Given the description of an element on the screen output the (x, y) to click on. 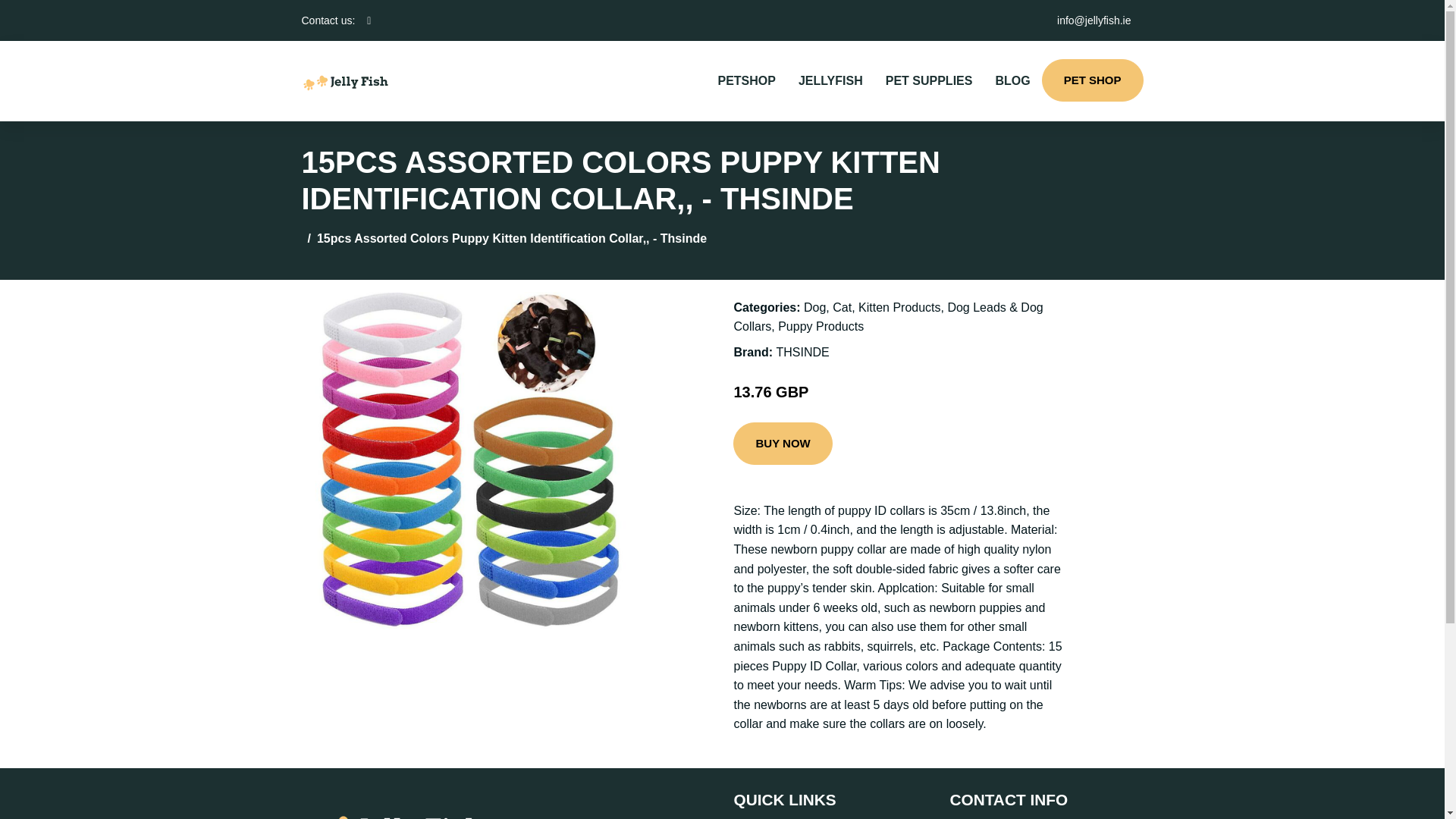
Puppy Products (820, 326)
Dog (814, 307)
PET SUPPLIES (929, 80)
JELLYFISH (831, 80)
Kitten Products (899, 307)
BUY NOW (782, 443)
Cat (841, 307)
PETSHOP (746, 80)
PET SHOP (1092, 79)
